Given the description of an element on the screen output the (x, y) to click on. 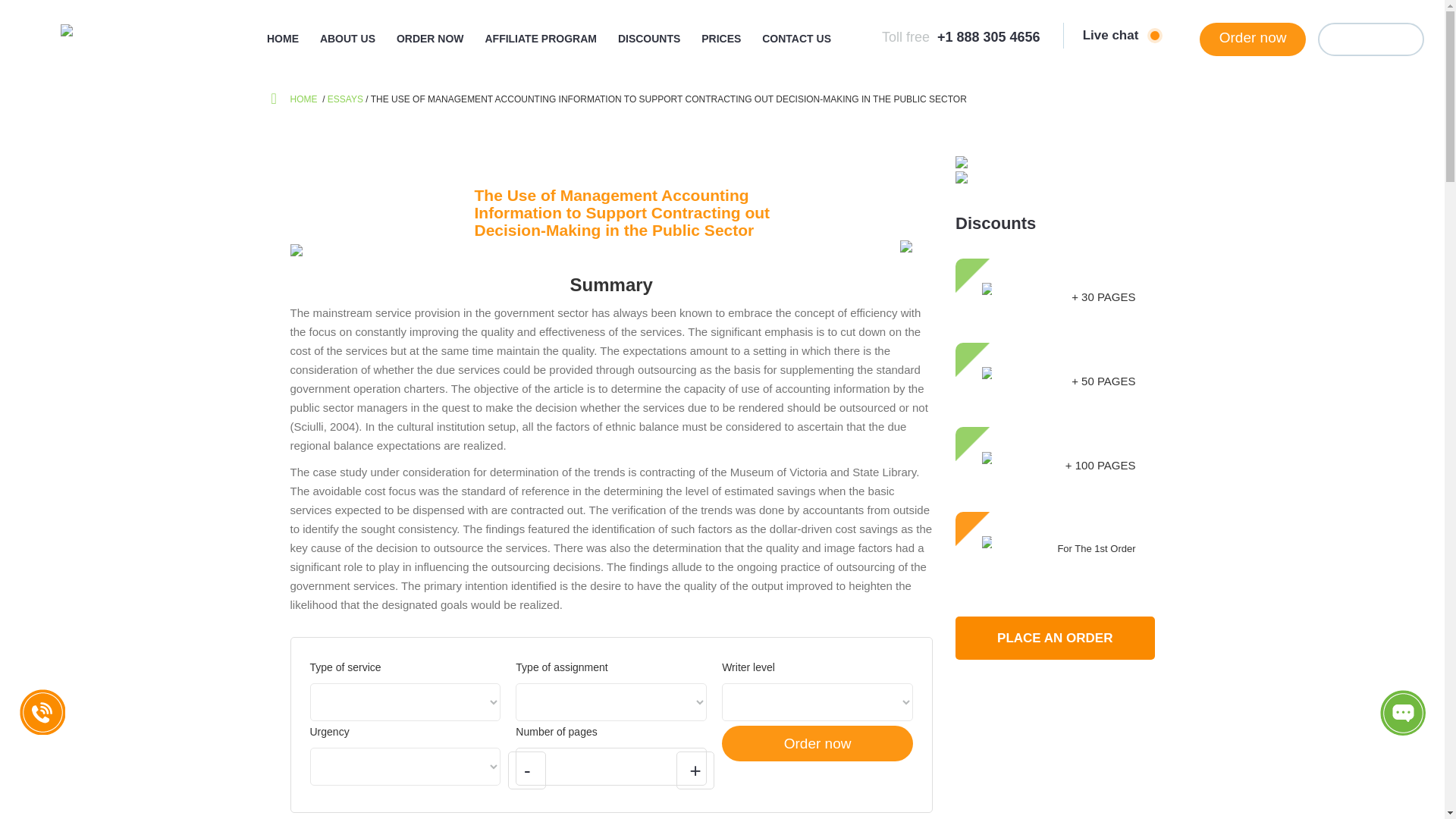
AFFILIATE PROGRAM (540, 38)
PRICES (721, 38)
PLACE AN ORDER (1054, 638)
ABOUT US (347, 38)
Plus (695, 770)
Live Chat (1402, 712)
ESSAYS (346, 99)
ORDER NOW (430, 38)
Order now (817, 743)
HOME (303, 99)
